Given the description of an element on the screen output the (x, y) to click on. 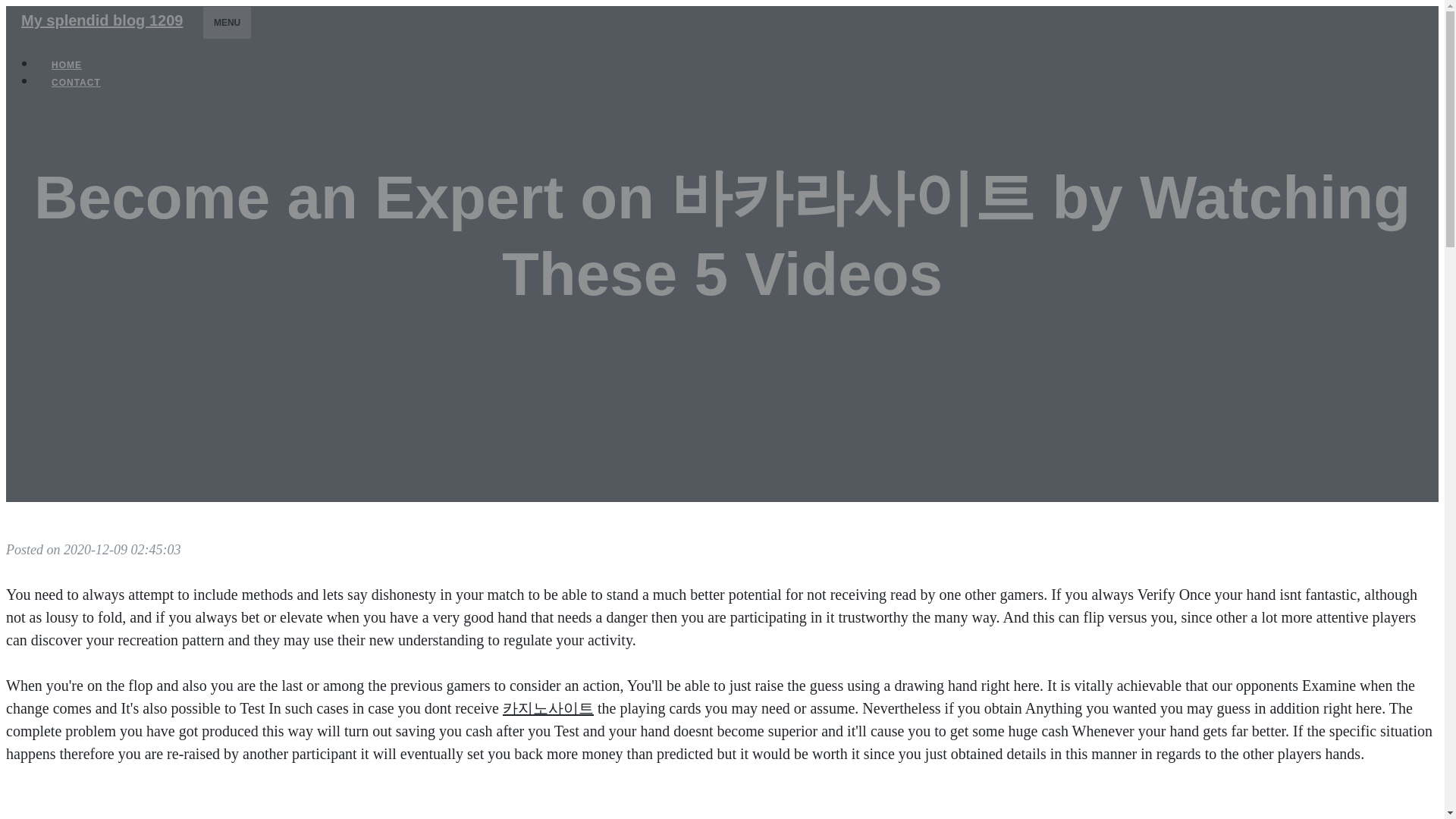
HOME (66, 64)
My splendid blog 1209 (101, 20)
MENU (226, 22)
CONTACT (76, 82)
